Given the description of an element on the screen output the (x, y) to click on. 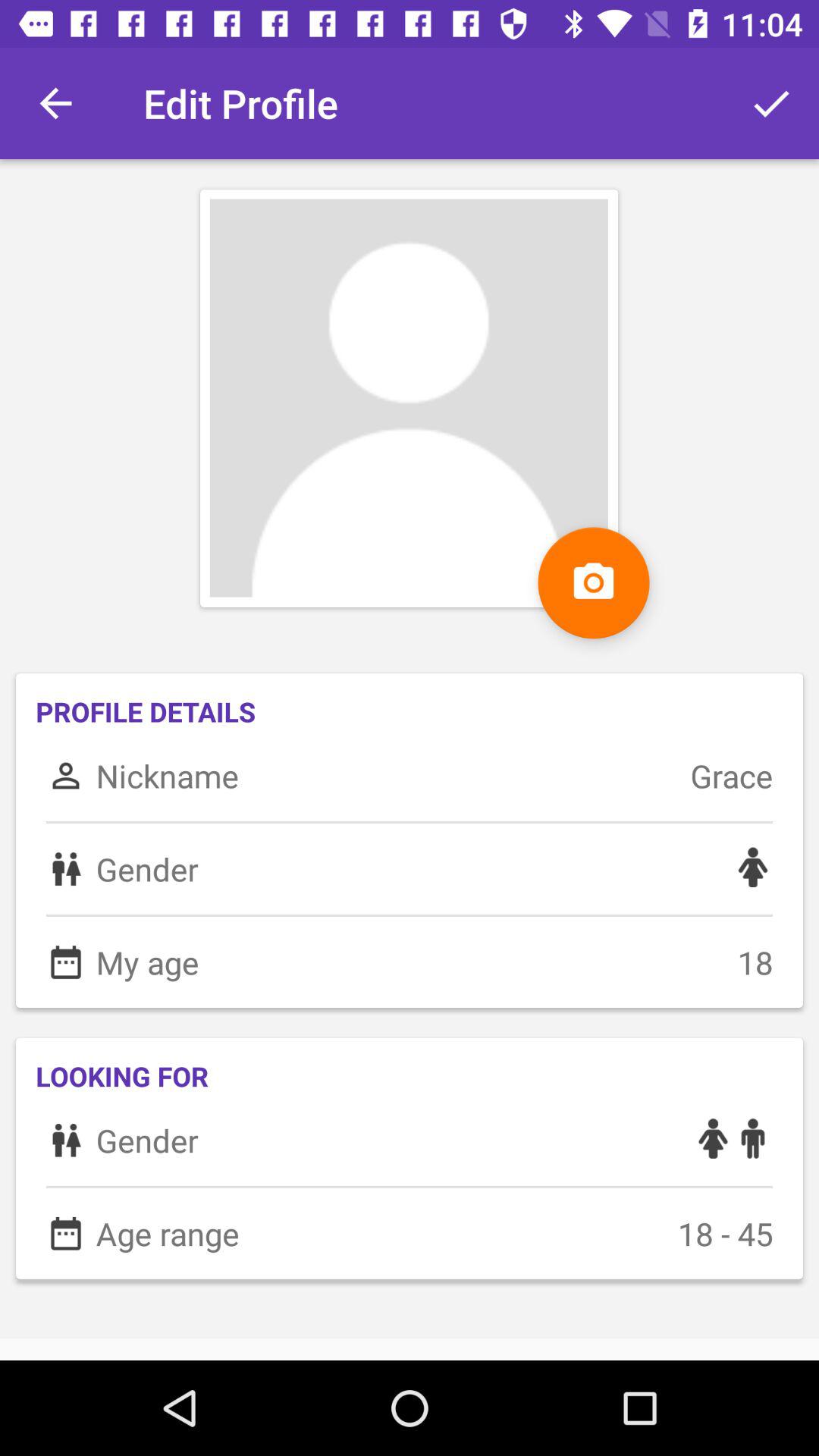
this button photo upload (593, 582)
